Given the description of an element on the screen output the (x, y) to click on. 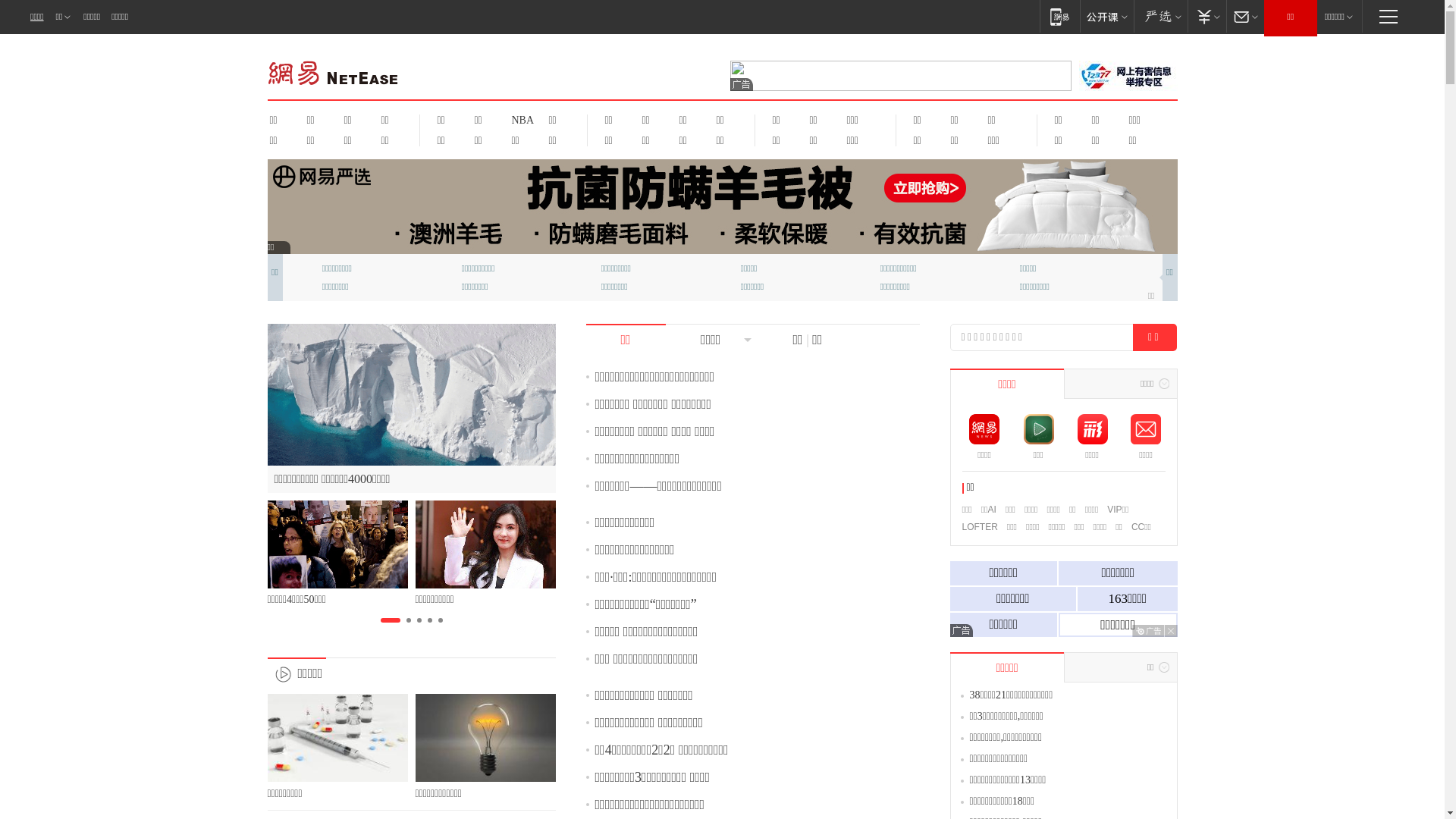
NBA Element type: text (520, 119)
LOFTER Element type: text (979, 526)
